Given the description of an element on the screen output the (x, y) to click on. 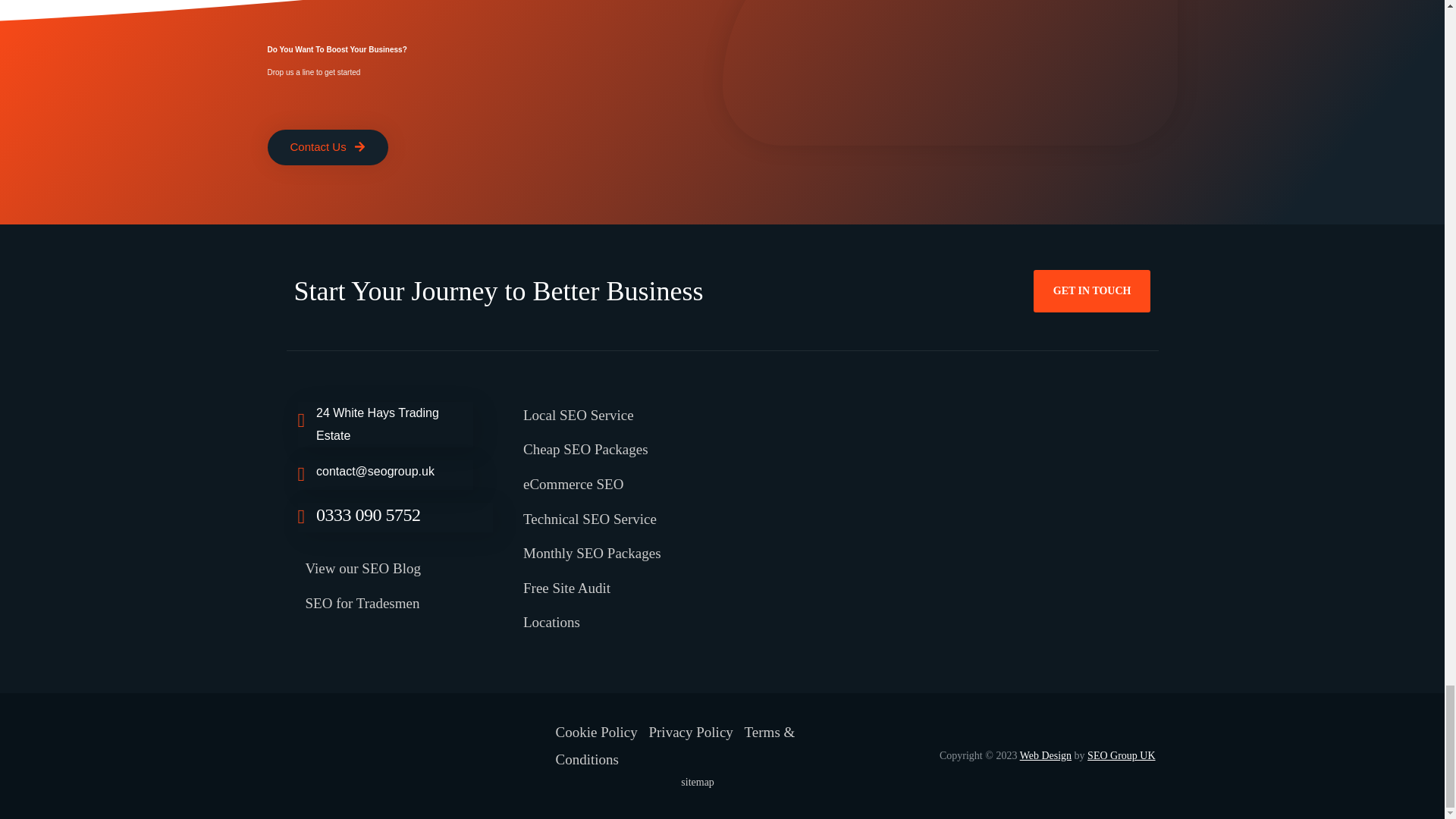
seo group uk (940, 500)
